Given the description of an element on the screen output the (x, y) to click on. 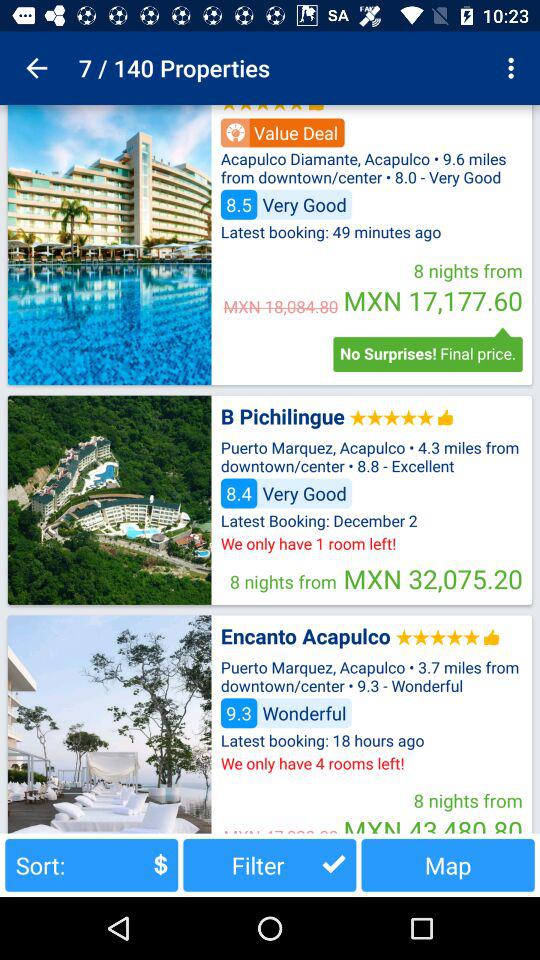
click the app below mxn 43 480 (447, 864)
